Given the description of an element on the screen output the (x, y) to click on. 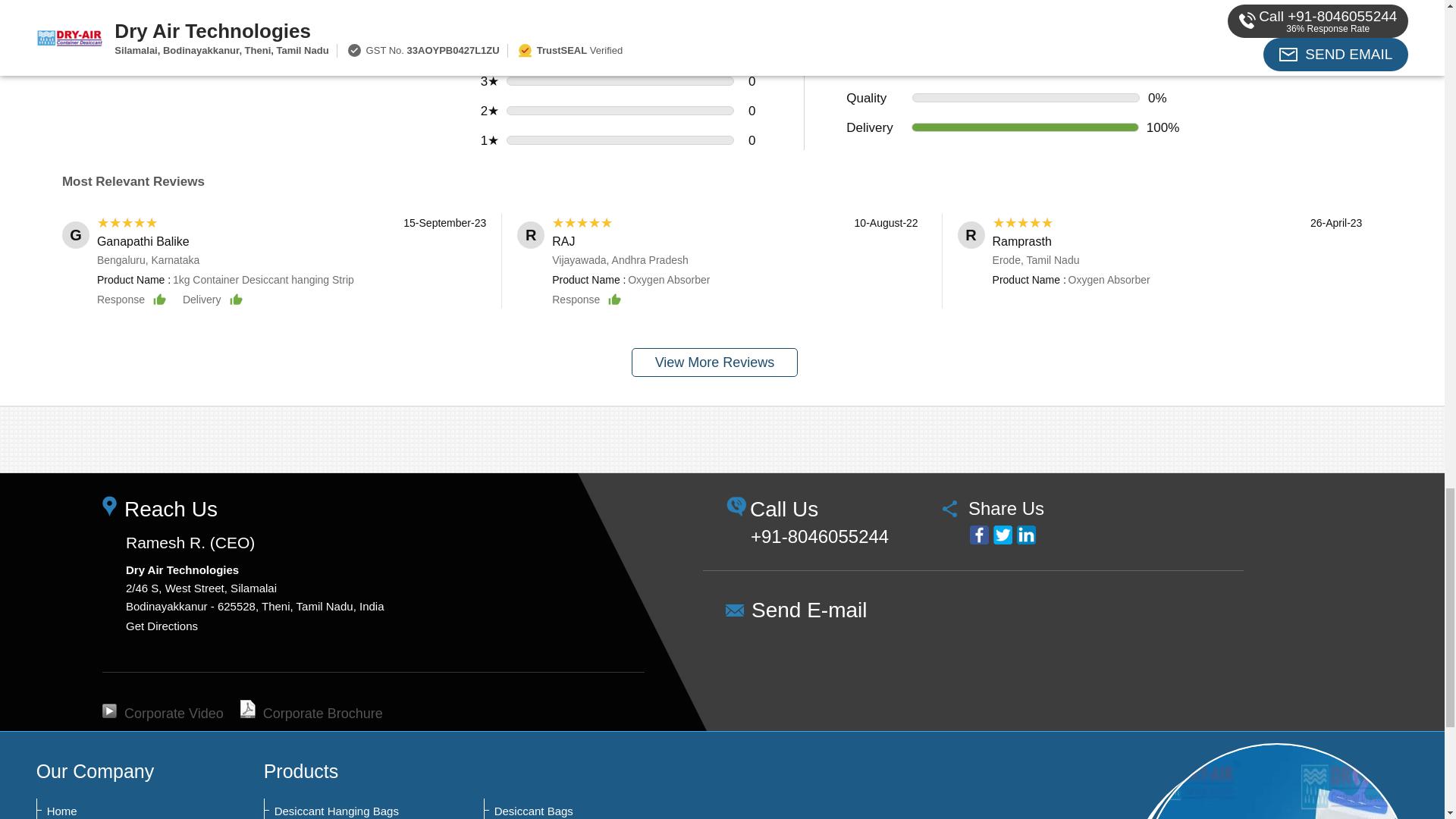
Home (121, 811)
Corporate Video (162, 713)
Facebook (978, 534)
LinkedIn (1025, 534)
Corporate Brochure (311, 713)
Get Directions (161, 625)
4.8 out of 5 Votes (289, 21)
Twitter (1001, 534)
View More Reviews (714, 362)
